Given the description of an element on the screen output the (x, y) to click on. 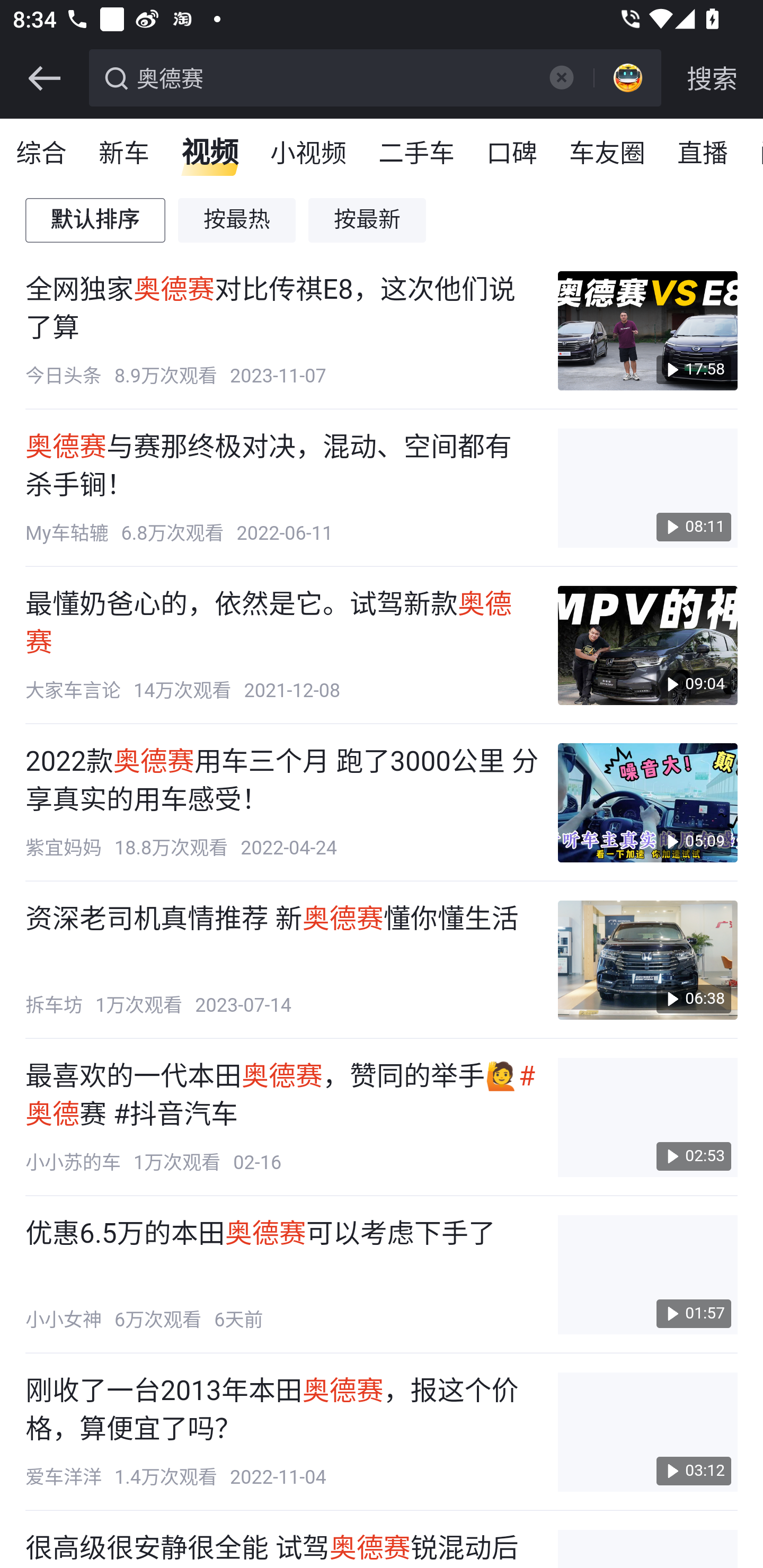
奥德赛 (331, 76)
 (560, 77)
 (44, 78)
搜索 (711, 78)
综合 (41, 153)
新车 (124, 153)
视频 (210, 153)
小视频 (308, 153)
二手车 (417, 153)
口碑 (512, 153)
车友圈 (608, 153)
直播 (703, 153)
默认排序 (96, 220)
按最热 (237, 220)
按最新 (367, 220)
全网独家 奥德赛 对比传祺E8，这次他们说了算 今日头条 8.9万次观看 2023-11-07 (281, 330)
17:58 (647, 330)
奥德赛 与赛那终极对决，混动、空间都有杀手锏！ My车轱辘 6.8万次观看 2022-06-11 (281, 487)
08:11 (647, 487)
最懂奶爸心的，依然是它。试驾新款 奥德赛 大家车言论 14万次观看 2021-12-08 (281, 645)
09:04 (647, 645)
05:09 (647, 802)
资深老司机真情推荐 新 奥德赛 懂你懂生活 拆车坊 1万次观看 2023-07-14 (281, 959)
06:38 (647, 959)
最喜欢的一代本田 奥德赛 ，赞同的举手🙋 #奥德 赛 #抖音汽车 小小苏的车 1万次观看 02-16 (281, 1117)
02:53 (647, 1117)
优惠6.5万的本田 奥德赛 可以考虑下手了 小小女神 6万次观看 6天前 (281, 1274)
01:57 (647, 1274)
03:12 (647, 1431)
很高级很安静很全能 试驾 奥德赛 锐混动后买就完了 (281, 1549)
